Given the description of an element on the screen output the (x, y) to click on. 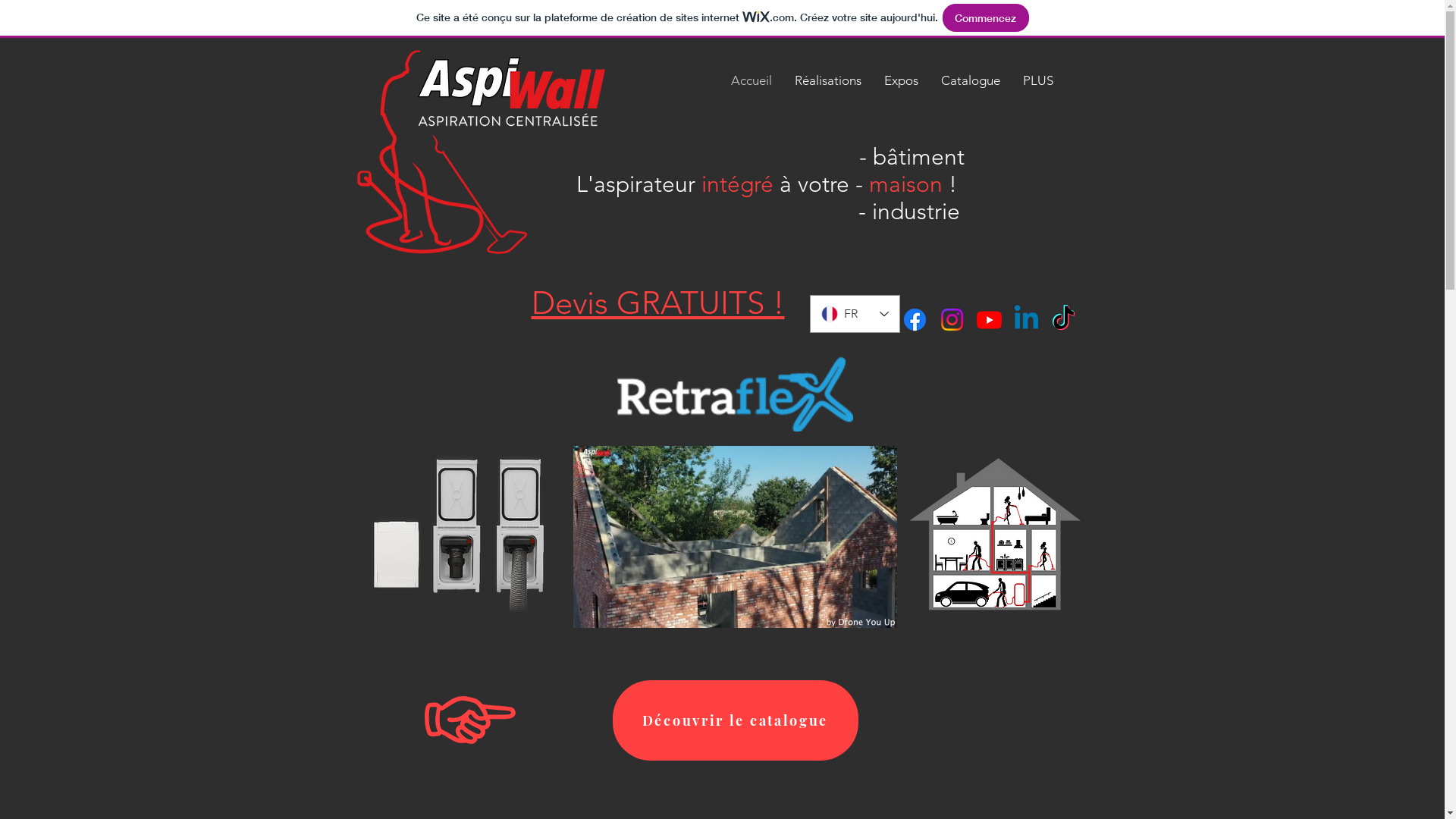
Devis GRATUITS ! Element type: text (657, 302)
Retraflex _edited.png Element type: hover (458, 536)
Catalogue Element type: text (970, 80)
Expos Element type: text (900, 80)
Accueil Element type: text (750, 80)
